Given the description of an element on the screen output the (x, y) to click on. 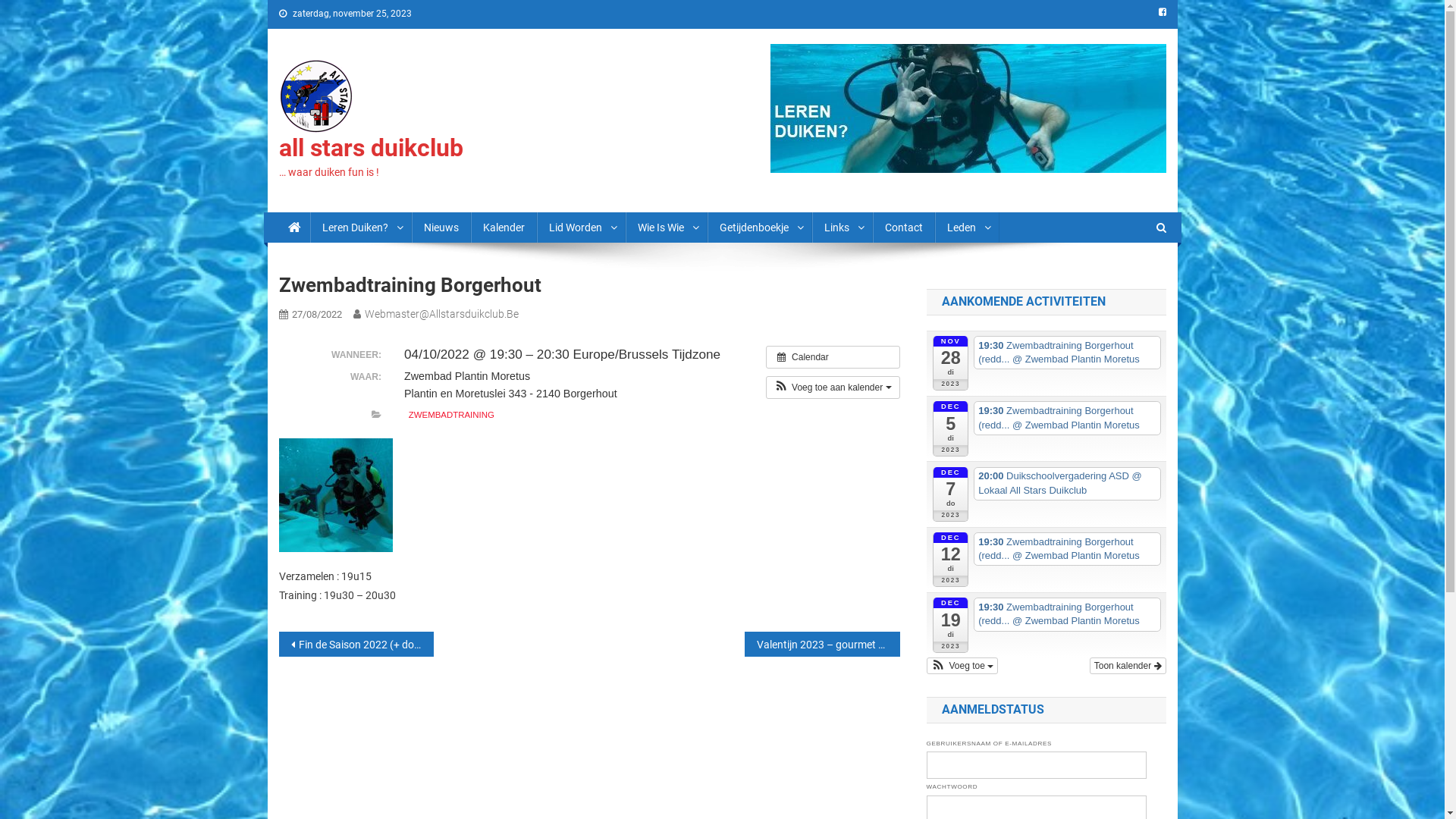
Links Element type: text (841, 227)
DEC
5
di
2023 Element type: text (950, 428)
Kalender Element type: text (503, 227)
Calendar Element type: text (832, 356)
DEC
12
di
2023 Element type: text (950, 559)
Nieuws Element type: text (440, 227)
Toon kalender Element type: text (1127, 665)
Fin de Saison 2022 (+ doopcertificaten) Element type: text (356, 643)
DEC
7
do
2023 Element type: text (950, 494)
Zoeken Element type: text (1133, 277)
NOV
28
di
2023 Element type: text (950, 362)
Leden Element type: text (966, 227)
all stars duikclub Element type: text (371, 147)
Wie Is Wie Element type: text (665, 227)
Contact Element type: text (903, 227)
Leren Duiken? Element type: text (360, 227)
20:00 Duikschoolvergadering ASD @ Lokaal All Stars Duikclub Element type: text (1067, 483)
Lid Worden Element type: text (580, 227)
DEC
19
di
2023 Element type: text (950, 624)
27/08/2022 Element type: text (316, 314)
ZWEMBADTRAINING Element type: text (451, 414)
Webmaster@Allstarsduikclub.Be Element type: text (440, 313)
Getijdenboekje Element type: text (758, 227)
